Given the description of an element on the screen output the (x, y) to click on. 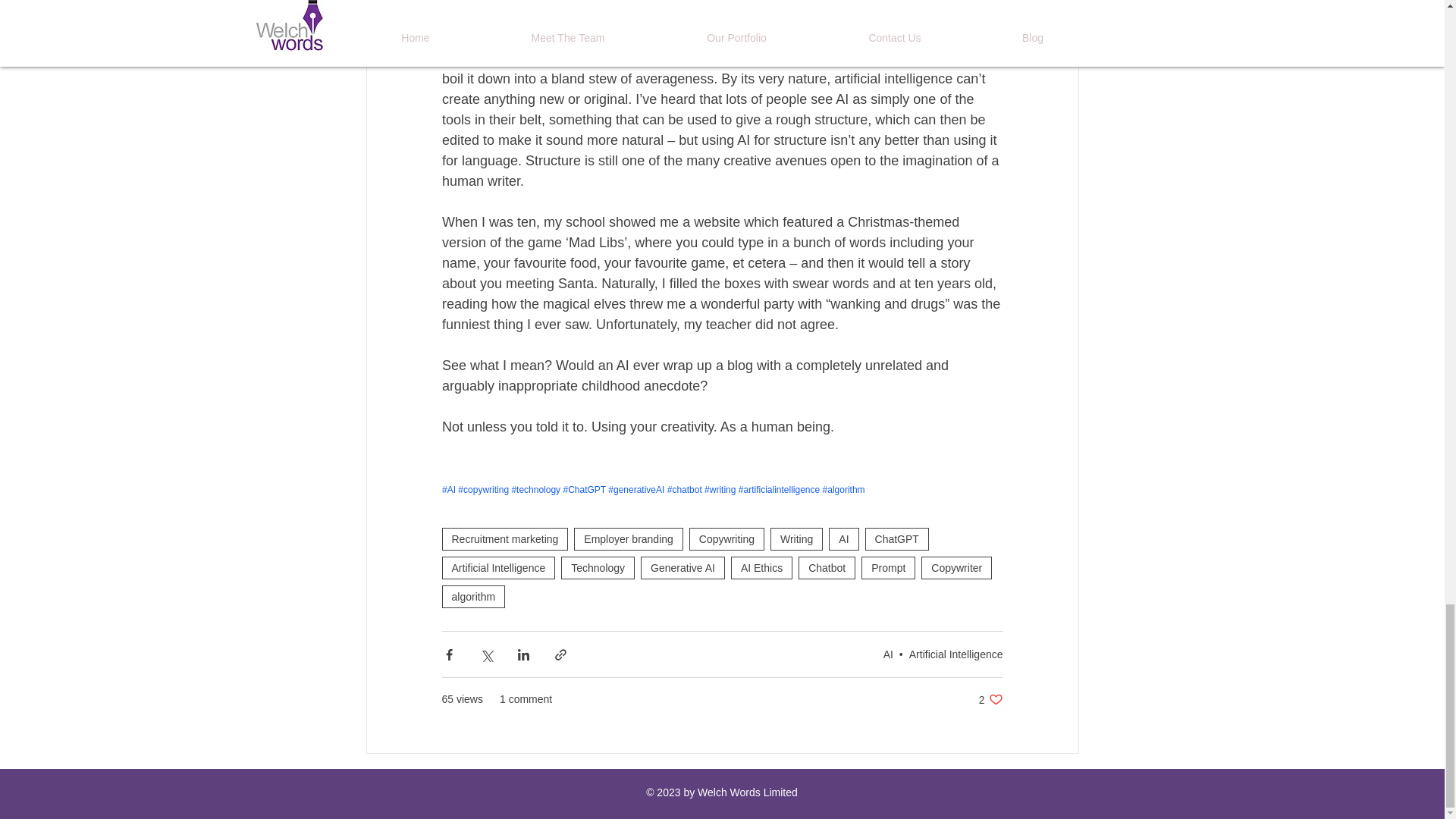
Copywriting (726, 538)
Technology (597, 567)
Generative AI (682, 567)
algorithm (473, 596)
Artificial Intelligence (497, 567)
Prompt (888, 567)
Chatbot (826, 567)
AI (843, 538)
Recruitment marketing (504, 538)
Employer branding (627, 538)
